Given the description of an element on the screen output the (x, y) to click on. 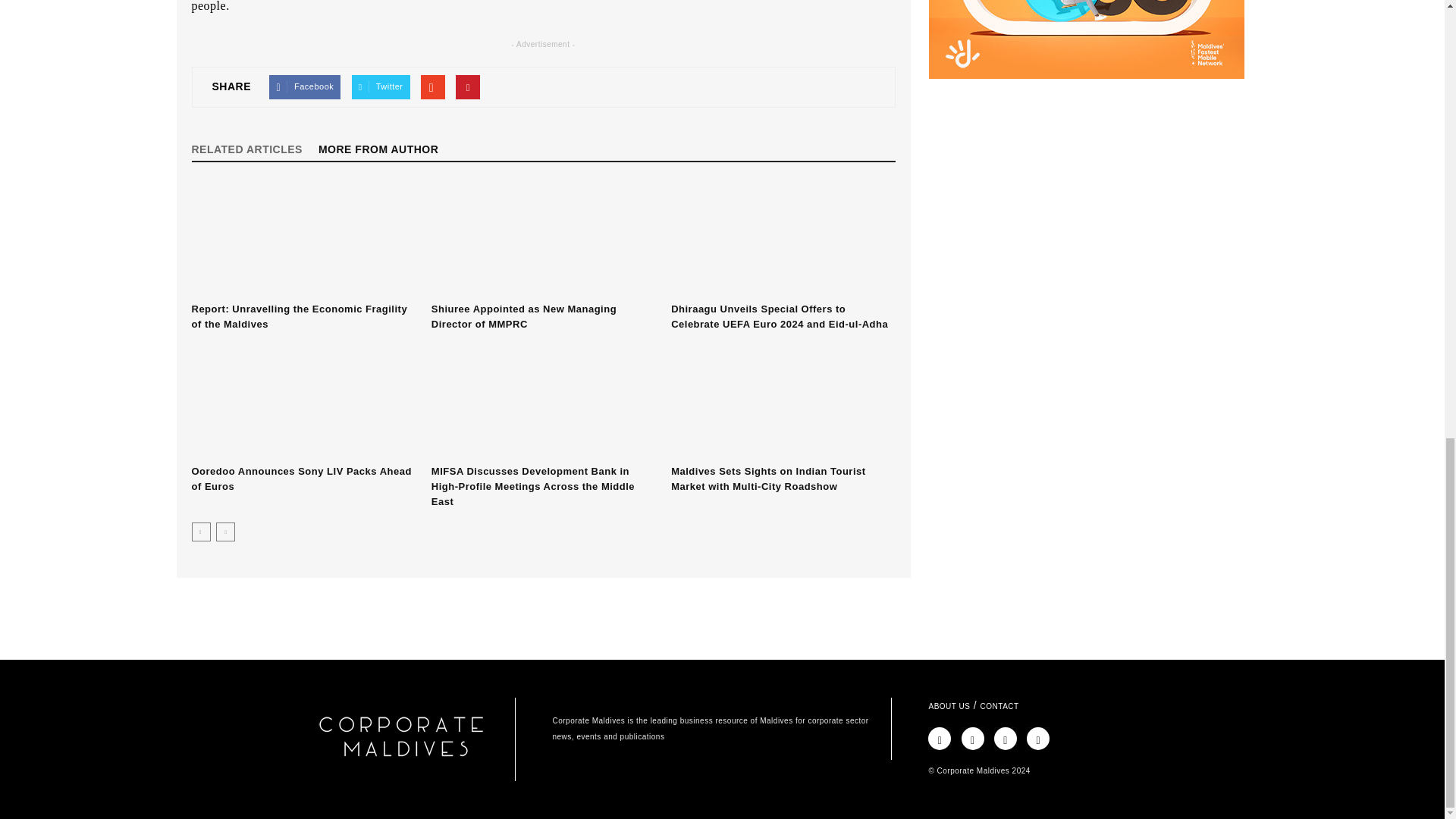
Ooredoo Announces Sony LIV Packs Ahead of Euros (300, 479)
Twitter (381, 87)
Report: Unravelling the Economic Fragility of the Maldives (302, 239)
Shiuree Appointed as New Managing Director of MMPRC (542, 239)
Ooredoo Announces Sony LIV Packs Ahead of Euros (302, 401)
Shiuree Appointed as New Managing Director of MMPRC (522, 316)
Report: Unravelling the Economic Fragility of the Maldives (298, 316)
Facebook (304, 87)
